Given the description of an element on the screen output the (x, y) to click on. 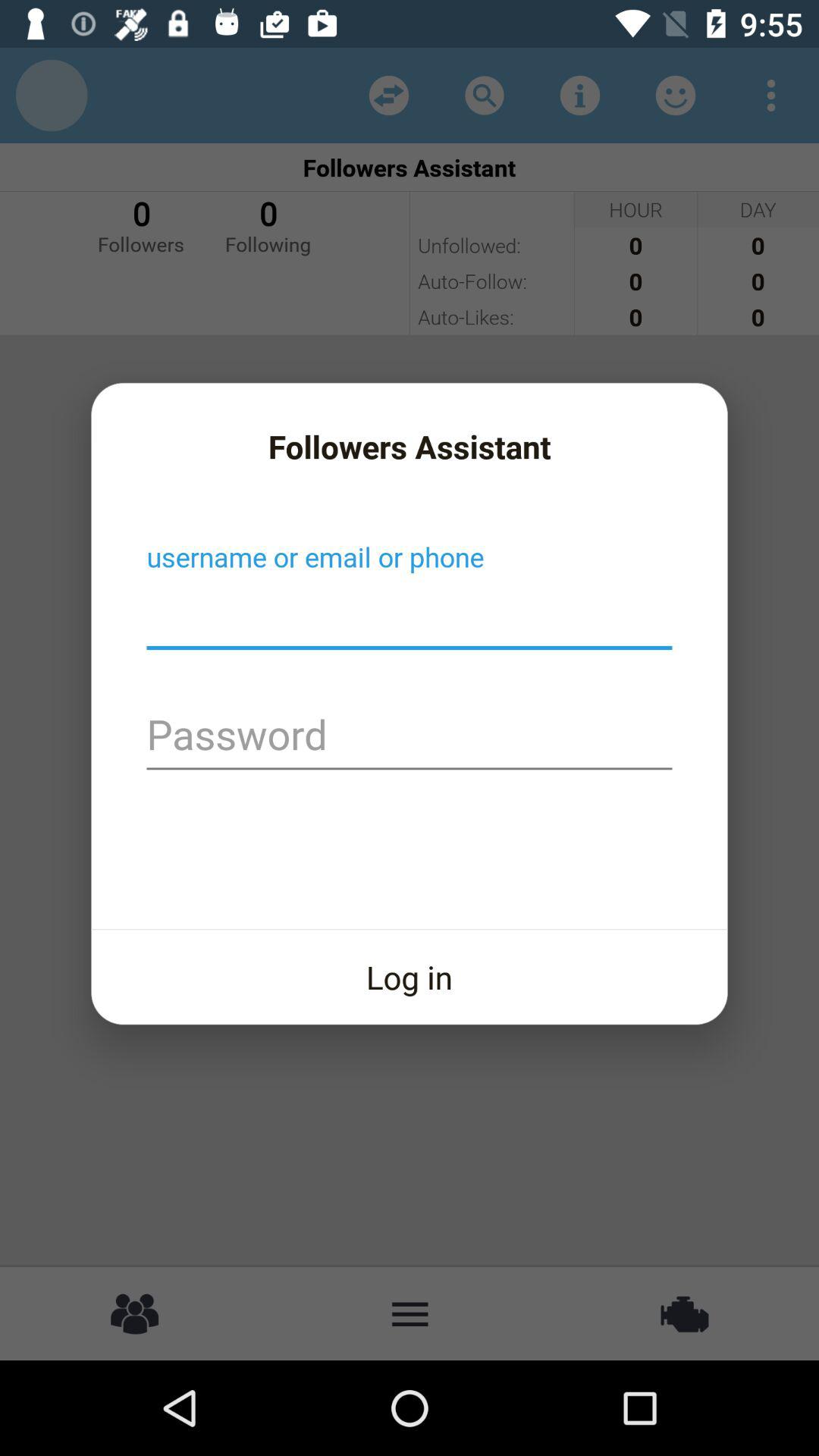
enter password here (409, 736)
